Given the description of an element on the screen output the (x, y) to click on. 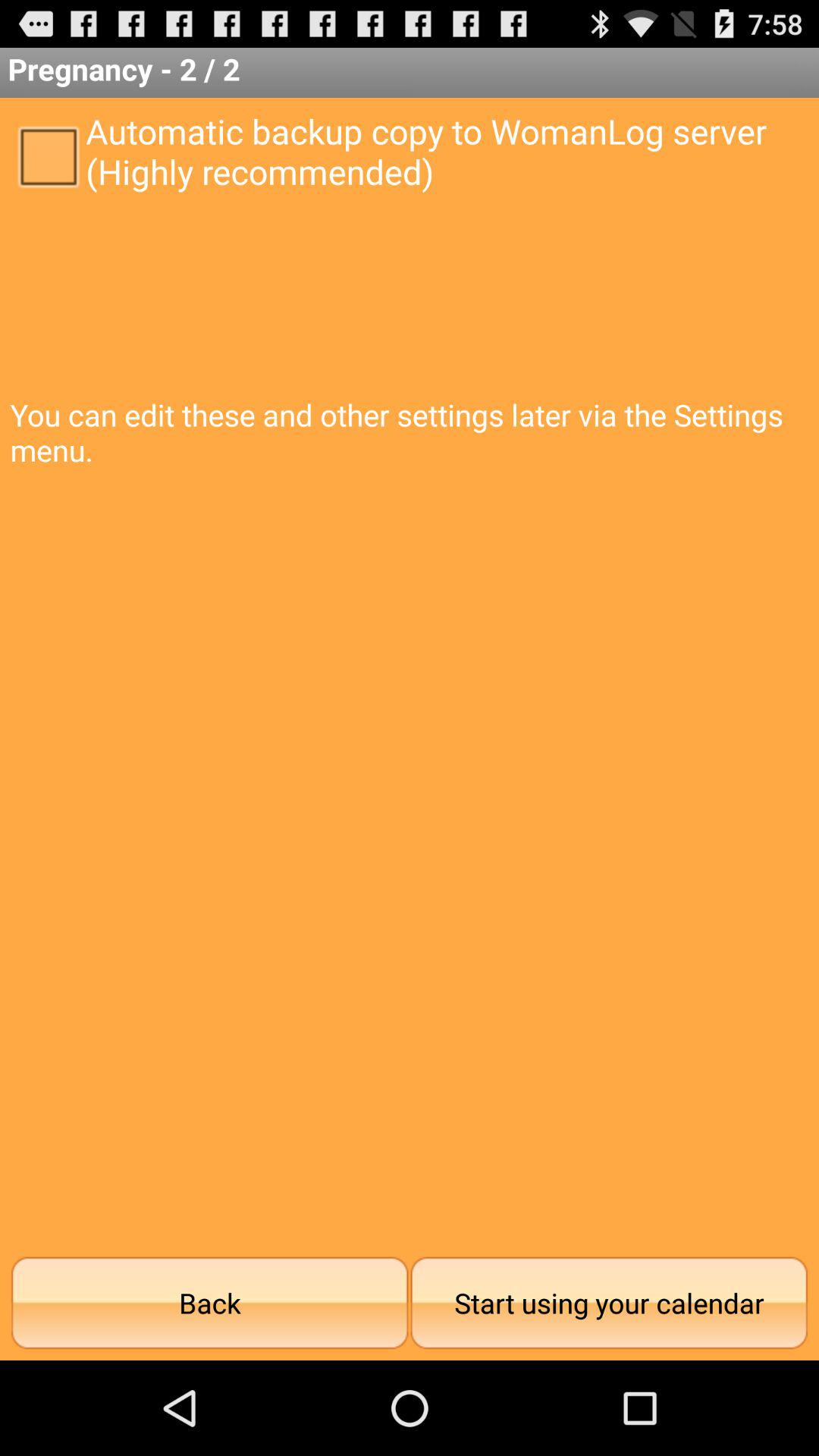
launch icon to the left of automatic backup copy icon (47, 155)
